Given the description of an element on the screen output the (x, y) to click on. 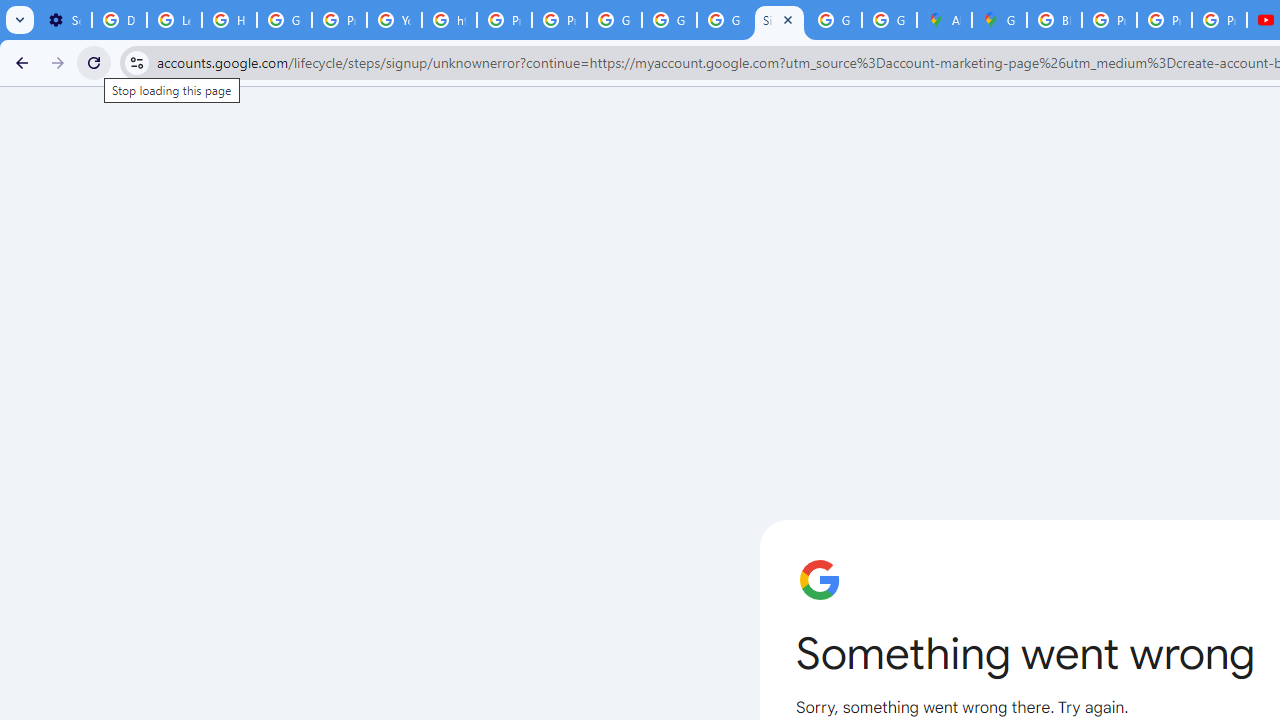
Learn how to find your photos - Google Photos Help (174, 20)
Sign in - Google Accounts (779, 20)
Privacy Help Center - Policies Help (339, 20)
Blogger Policies and Guidelines - Transparency Center (1053, 20)
Privacy Help Center - Policies Help (1108, 20)
